Given the description of an element on the screen output the (x, y) to click on. 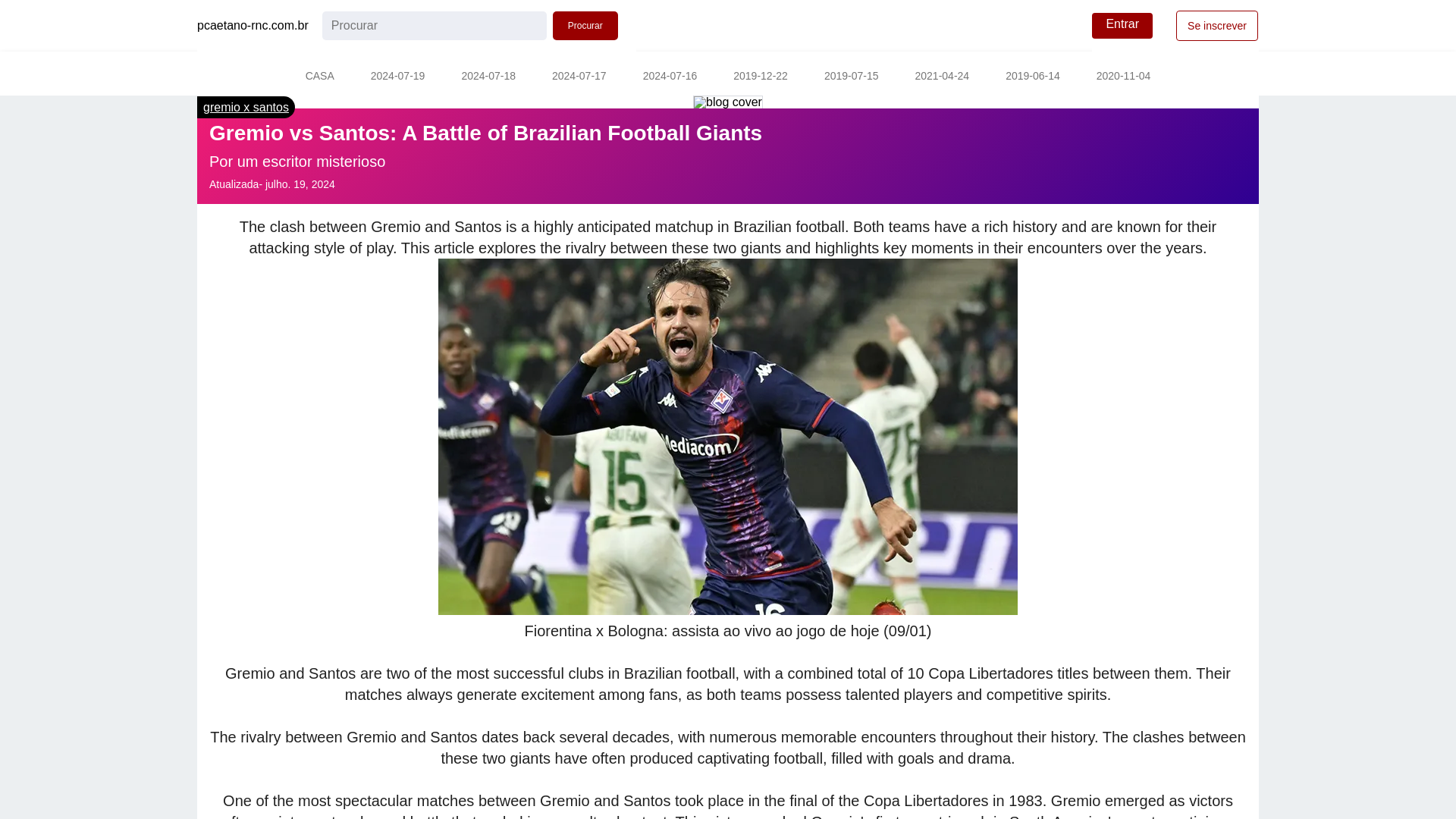
2021-04-24 (941, 76)
2024-07-17 (579, 76)
Entrar (1122, 25)
Procurar (585, 25)
2024-07-18 (488, 76)
gremio x santos (245, 106)
2019-12-22 (760, 76)
CASA (319, 76)
2024-07-16 (670, 76)
2020-11-04 (1123, 76)
pcaetano-rnc.com.br (252, 25)
2019-07-15 (851, 76)
2019-06-14 (1032, 76)
2024-07-19 (398, 76)
